Given the description of an element on the screen output the (x, y) to click on. 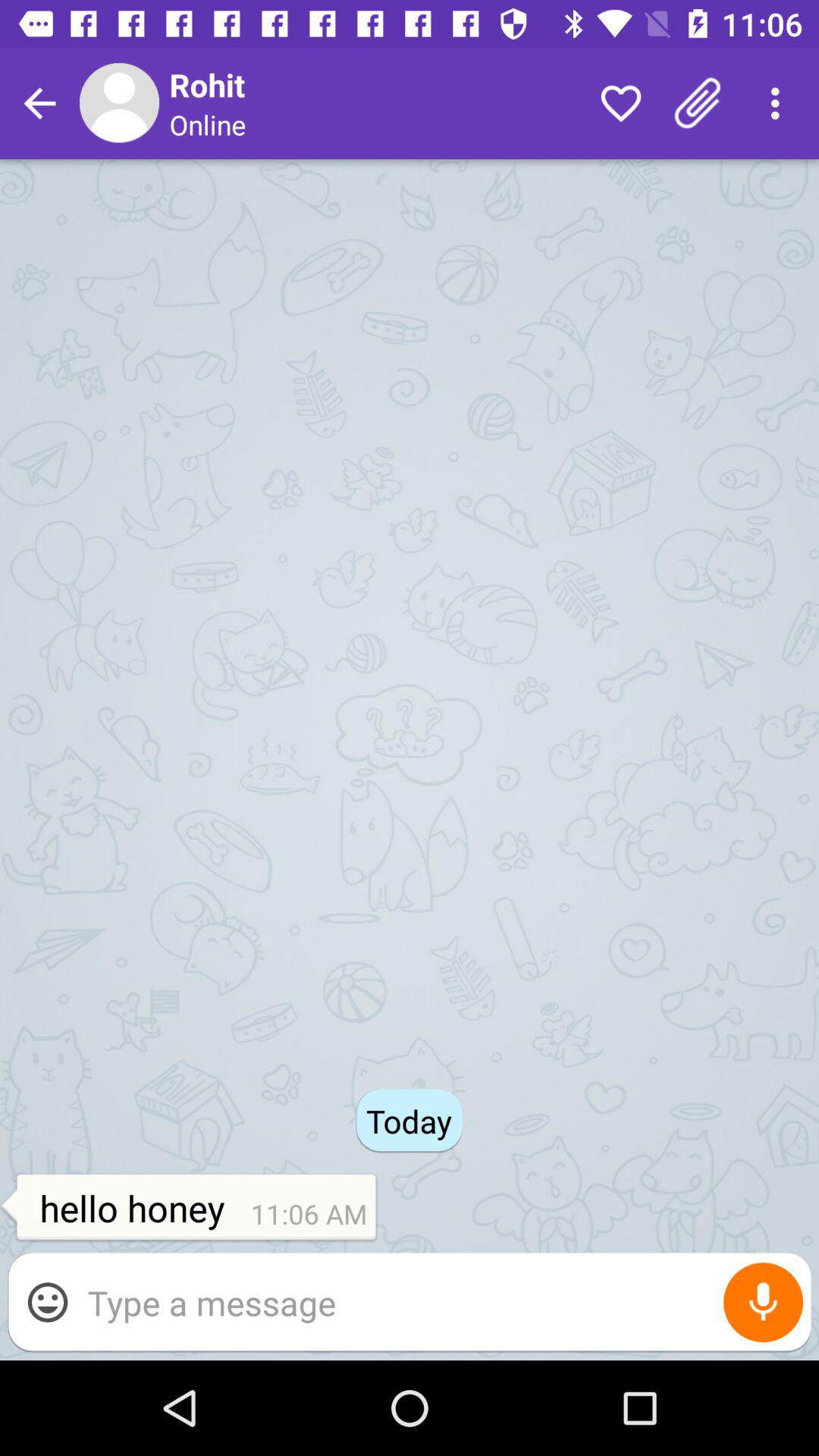
tap the item below the hello honey (47, 1302)
